Given the description of an element on the screen output the (x, y) to click on. 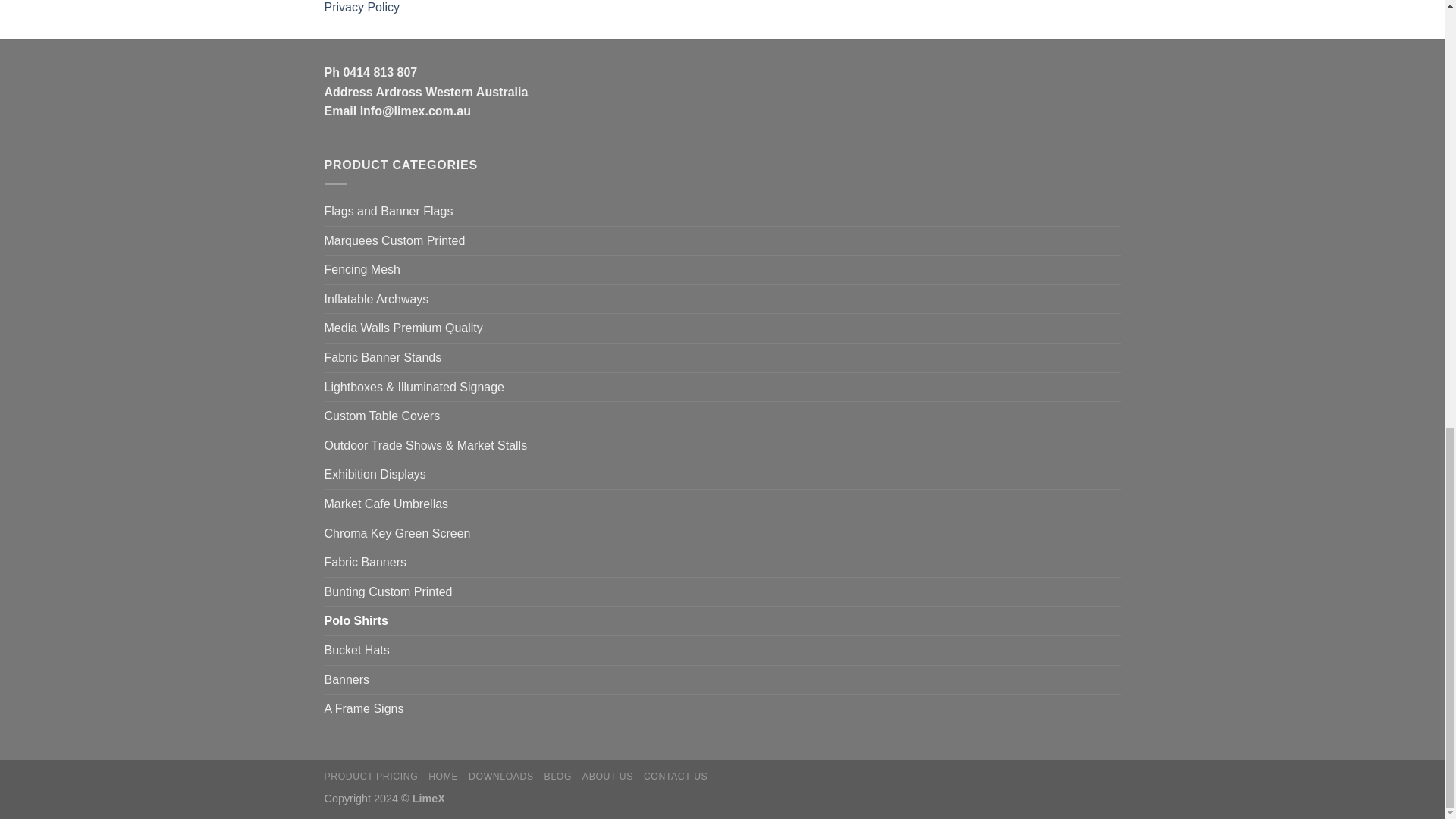
Privacy Policy (362, 11)
